Given the description of an element on the screen output the (x, y) to click on. 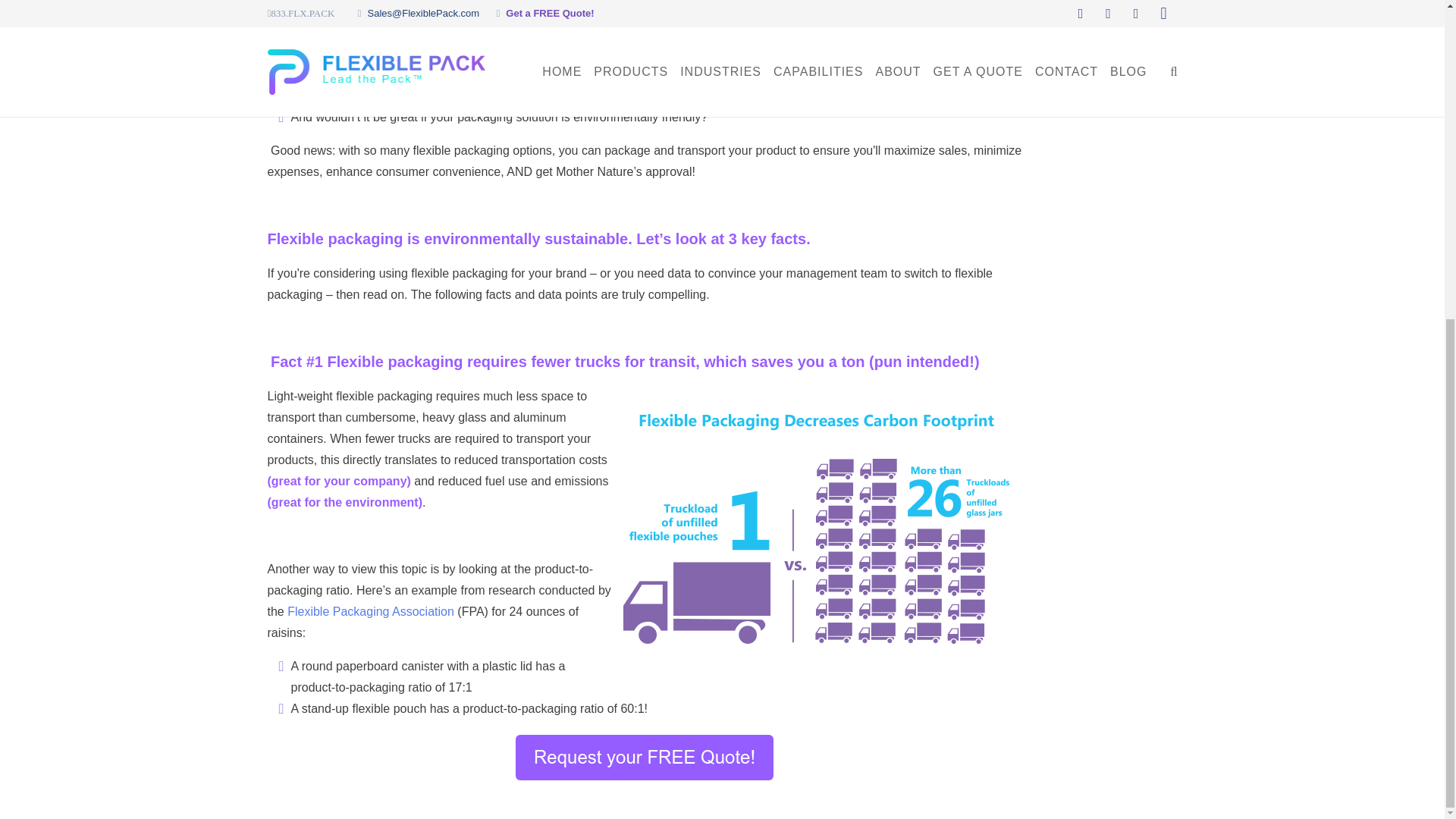
Flexible Packaging Association (370, 611)
